Given the description of an element on the screen output the (x, y) to click on. 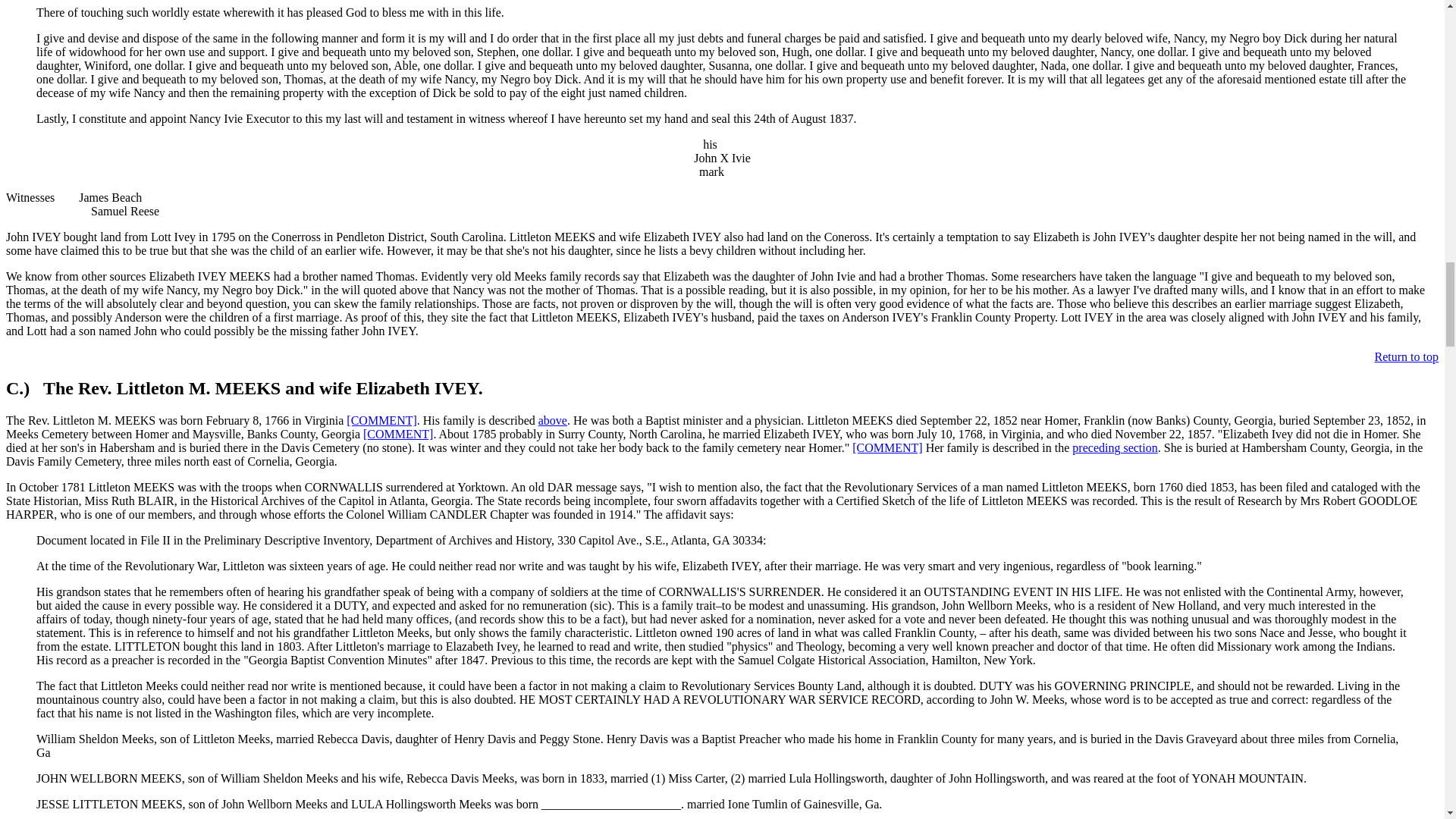
preceding section (1114, 447)
above (552, 420)
Return to top (1406, 356)
